Given the description of an element on the screen output the (x, y) to click on. 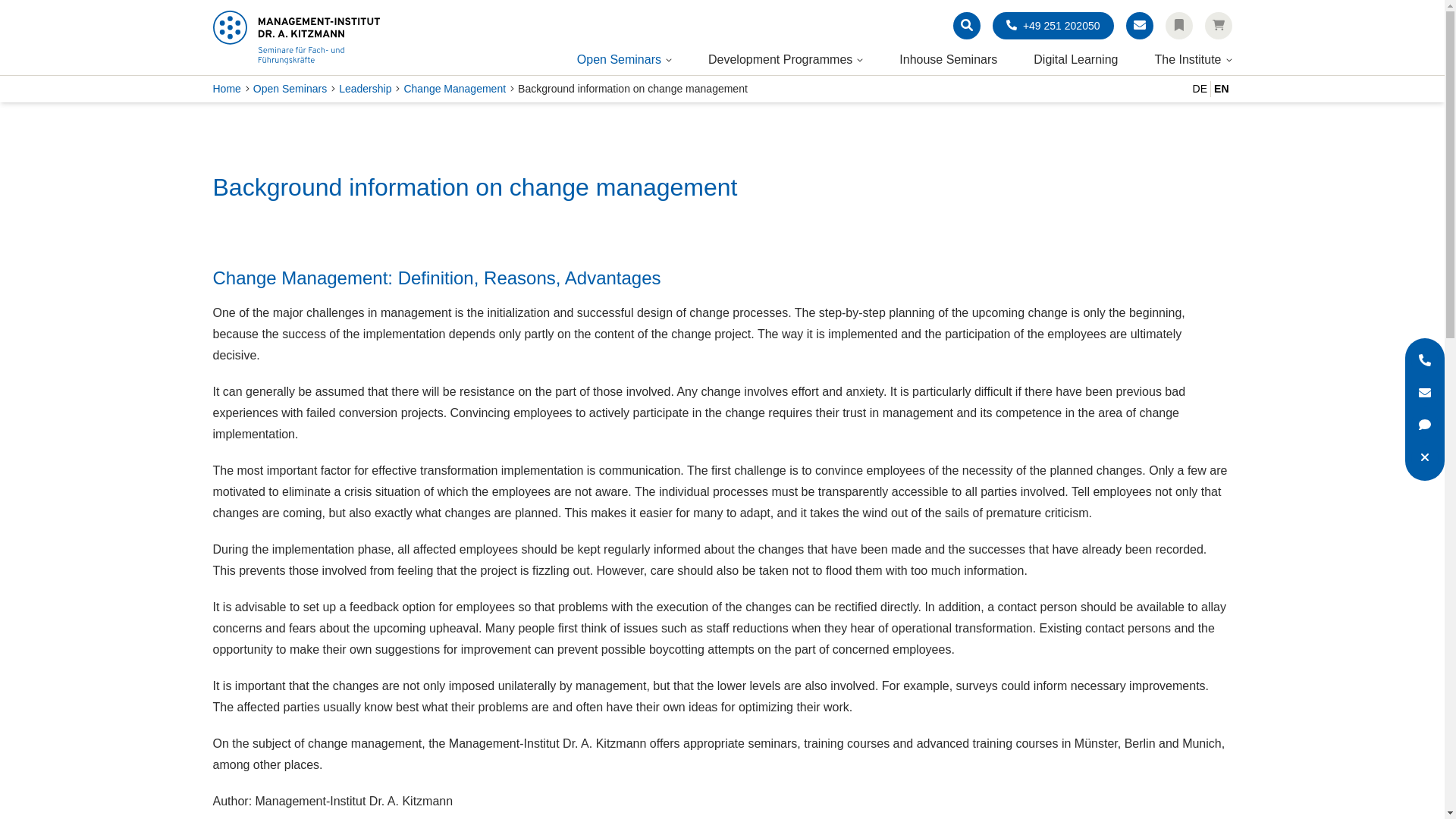
Leadership (365, 89)
DE (1199, 89)
Inhouse Seminars (948, 59)
Zum Warenkorb (1217, 25)
Zum Merkzettel (1178, 25)
Development Programmes (779, 59)
Open Seminars (289, 89)
Development Programmes (779, 59)
Open Seminars (618, 59)
The Institute (1187, 59)
